Given the description of an element on the screen output the (x, y) to click on. 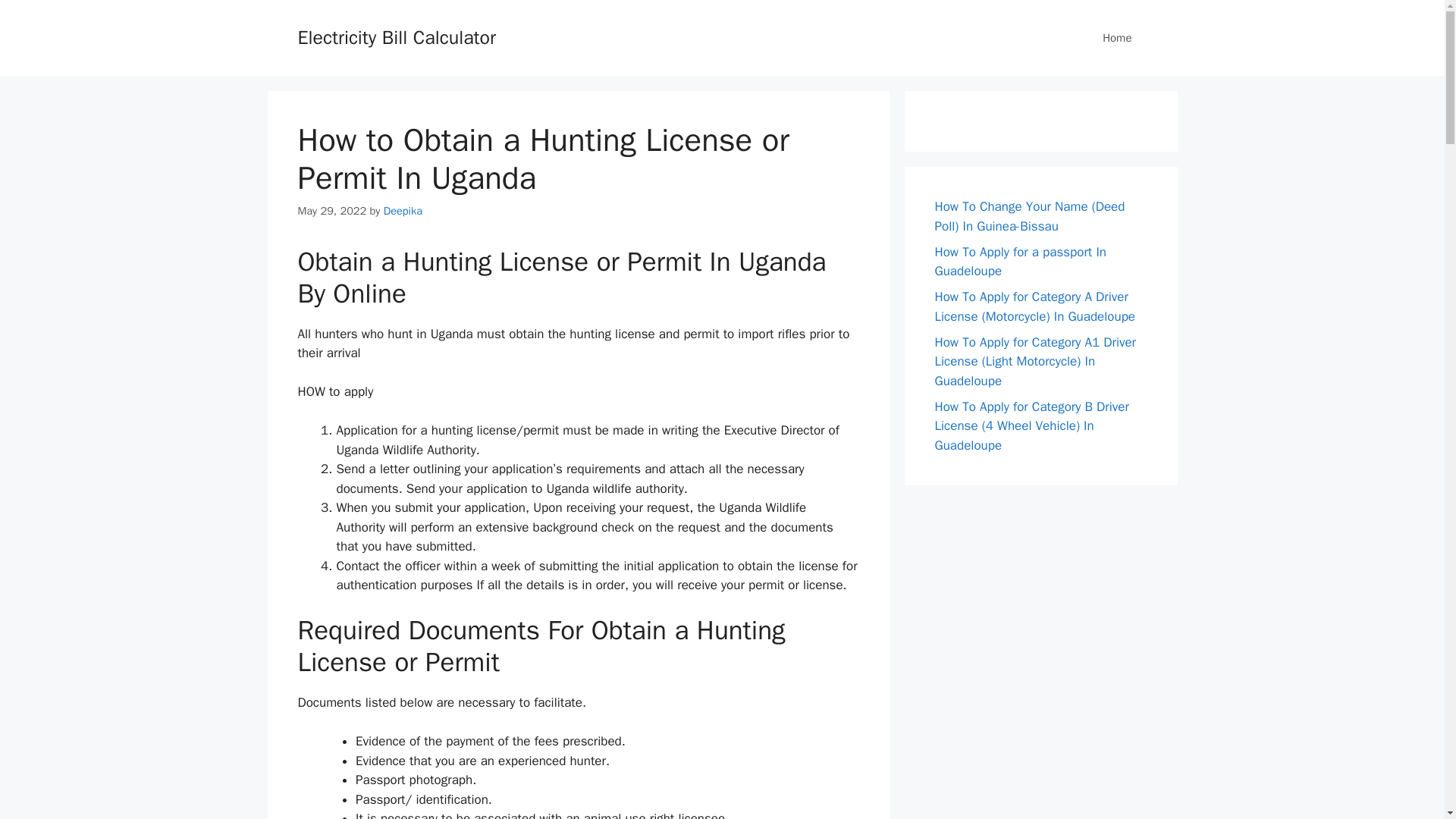
Electricity Bill Calculator (396, 37)
Home (1117, 37)
View all posts by Deepika (403, 210)
How To Apply for a passport In Guadeloupe (1019, 262)
Deepika (403, 210)
